Given the description of an element on the screen output the (x, y) to click on. 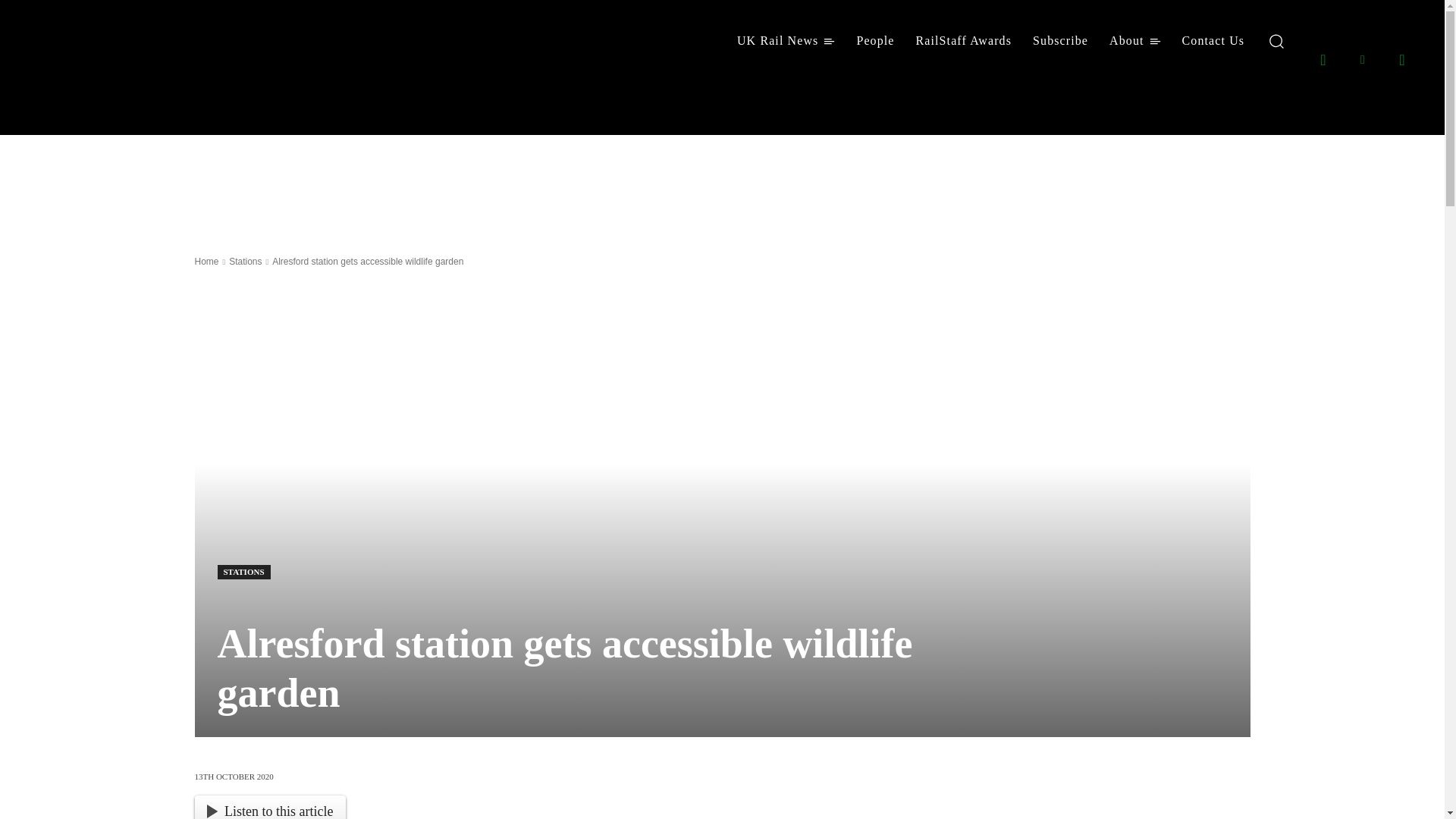
UK Rail News (785, 40)
Twitter (1401, 58)
View all posts in Stations (245, 261)
Facebook (1322, 58)
Linkedin (1361, 58)
People (874, 40)
